Given the description of an element on the screen output the (x, y) to click on. 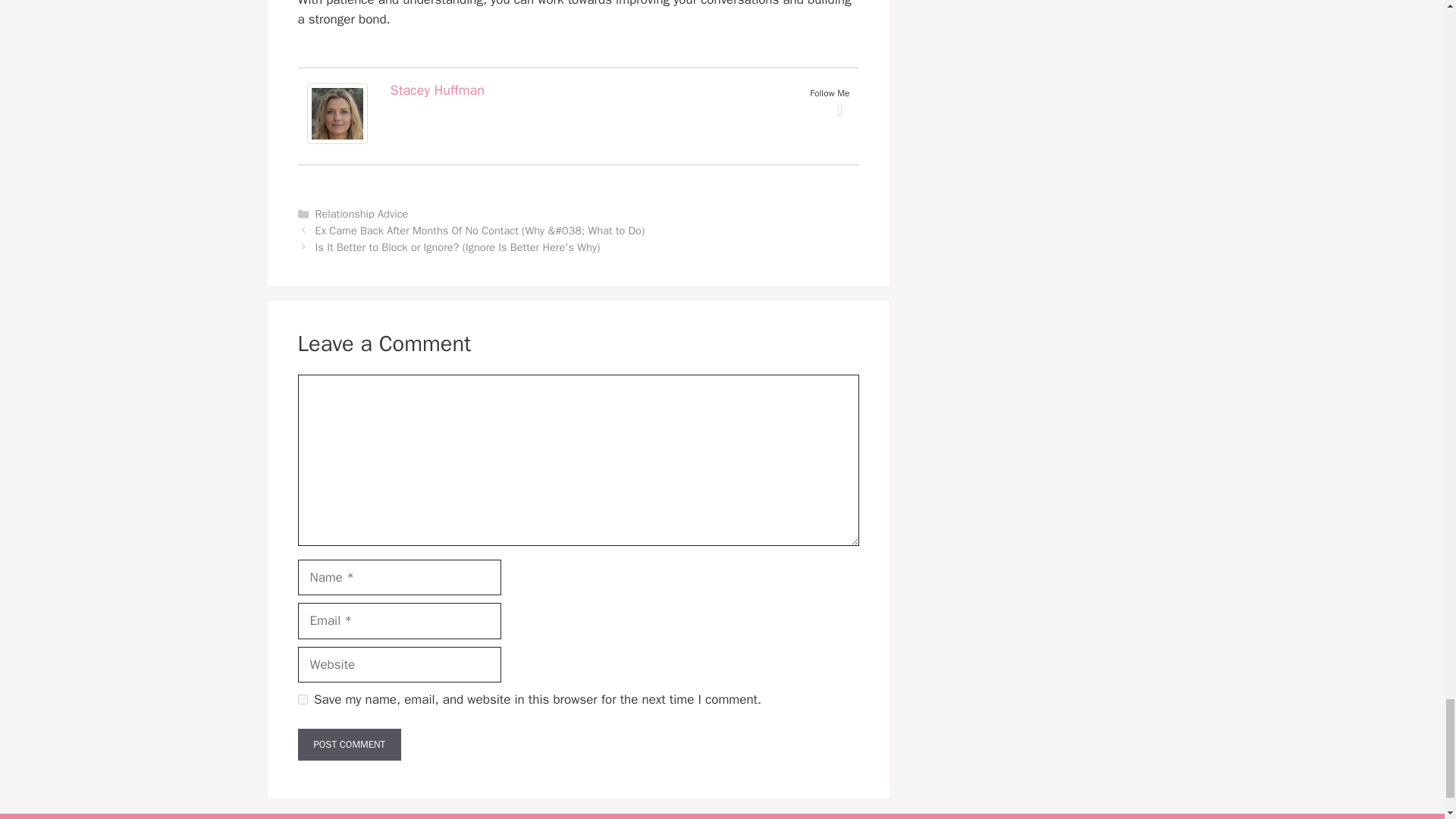
Post Comment (349, 744)
Post Comment (349, 744)
Stacey Huffman (335, 139)
Stacey Huffman (436, 89)
yes (302, 699)
Twitter (839, 110)
Relationship Advice (362, 213)
